Given the description of an element on the screen output the (x, y) to click on. 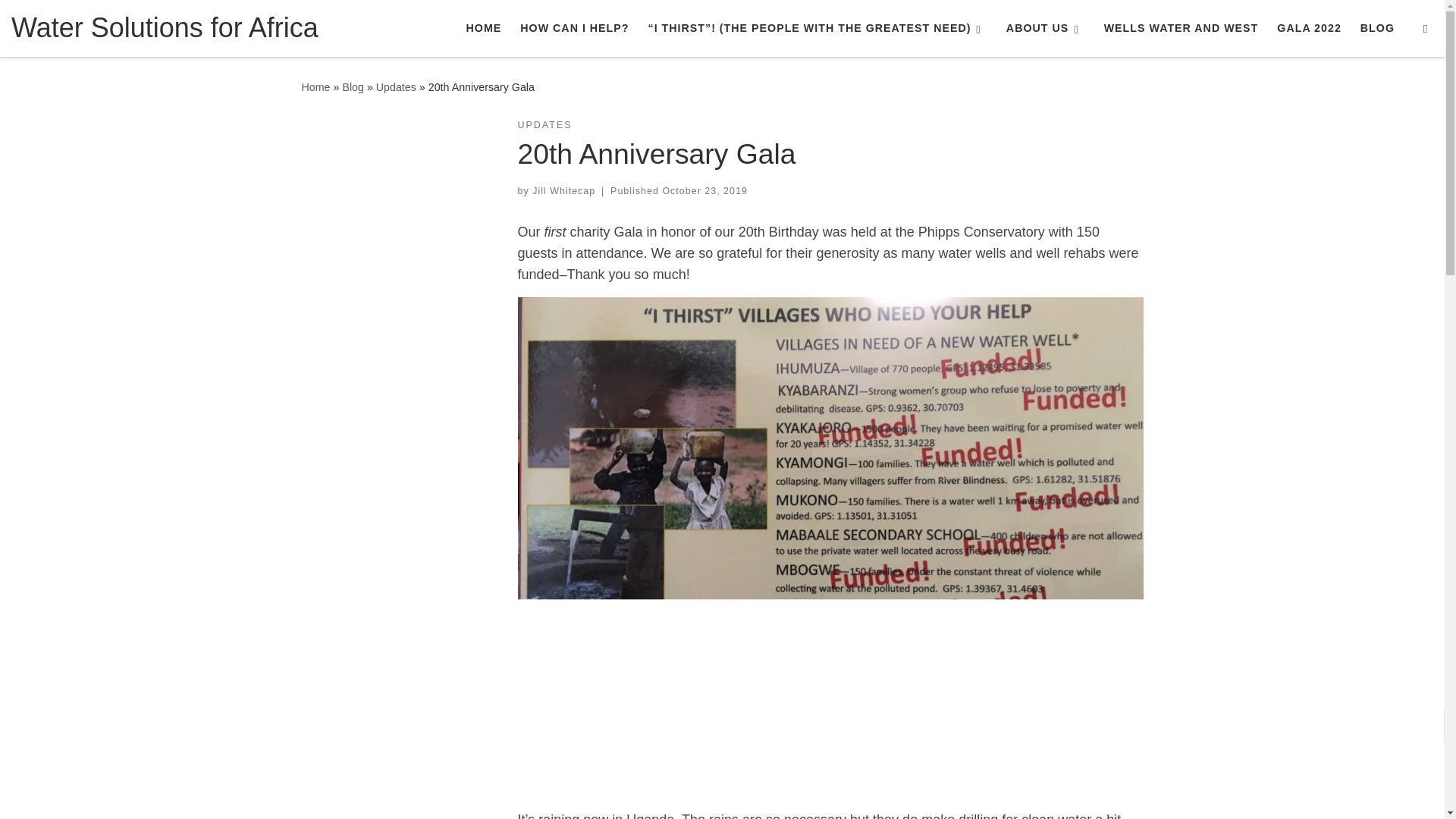
UPDATES (544, 124)
Home (315, 87)
View all posts by Jill Whitecap (563, 190)
6:50 pm (704, 190)
WELLS WATER AND WEST (1180, 28)
GALA 2022 (1308, 28)
View all posts in Updates (544, 124)
HOME (483, 28)
BLOG (1377, 28)
Water Solutions for Africa (315, 87)
October 23, 2019 (704, 190)
HOW CAN I HELP? (574, 28)
Updates (395, 87)
Skip to content (60, 20)
Jill Whitecap (563, 190)
